Given the description of an element on the screen output the (x, y) to click on. 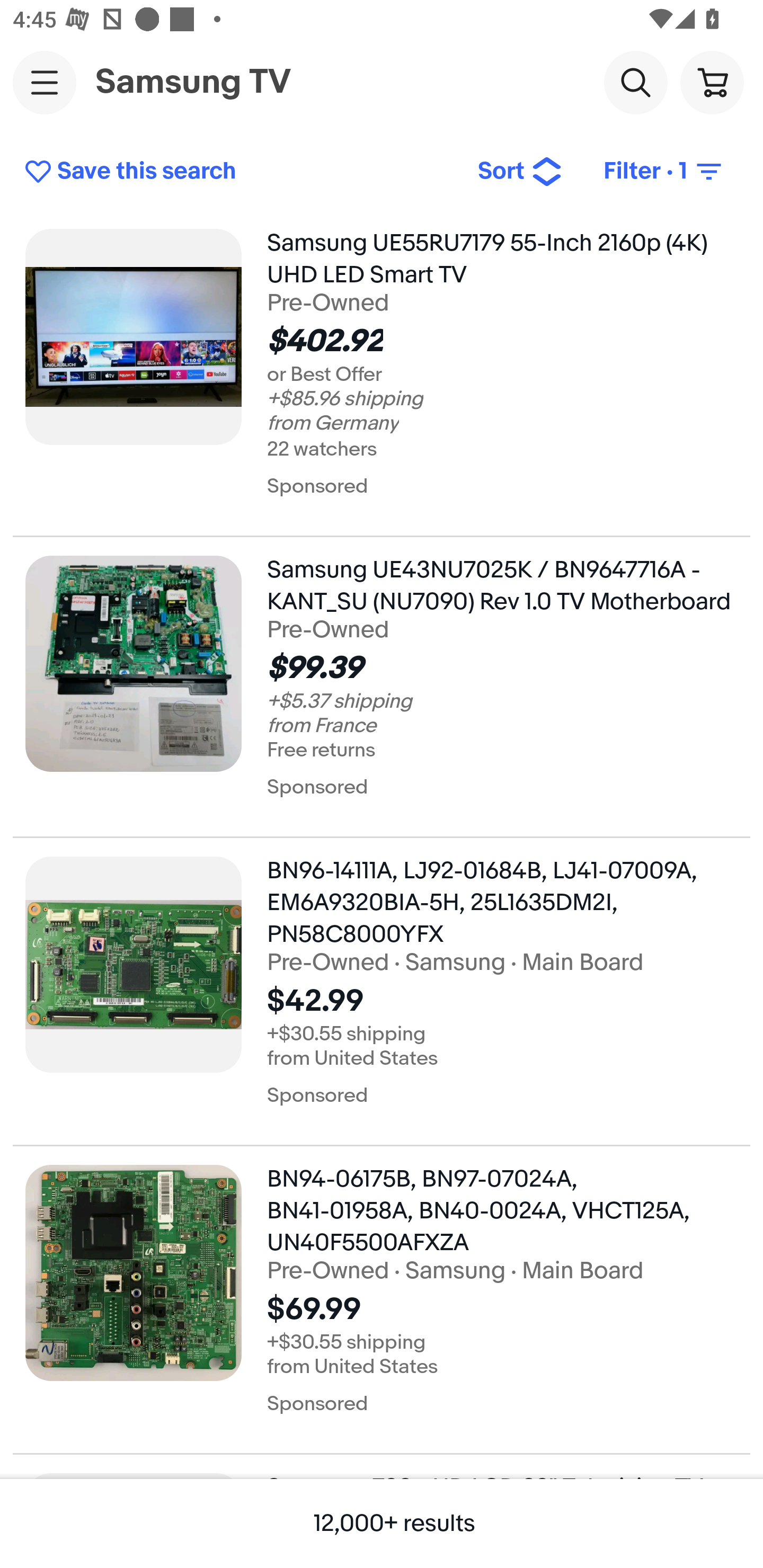
Main navigation, open (44, 82)
Search (635, 81)
Cart button shopping cart (711, 81)
Save this search (237, 171)
Sort (520, 171)
Filter • 1 Filter (1 applied) (663, 171)
